Given the description of an element on the screen output the (x, y) to click on. 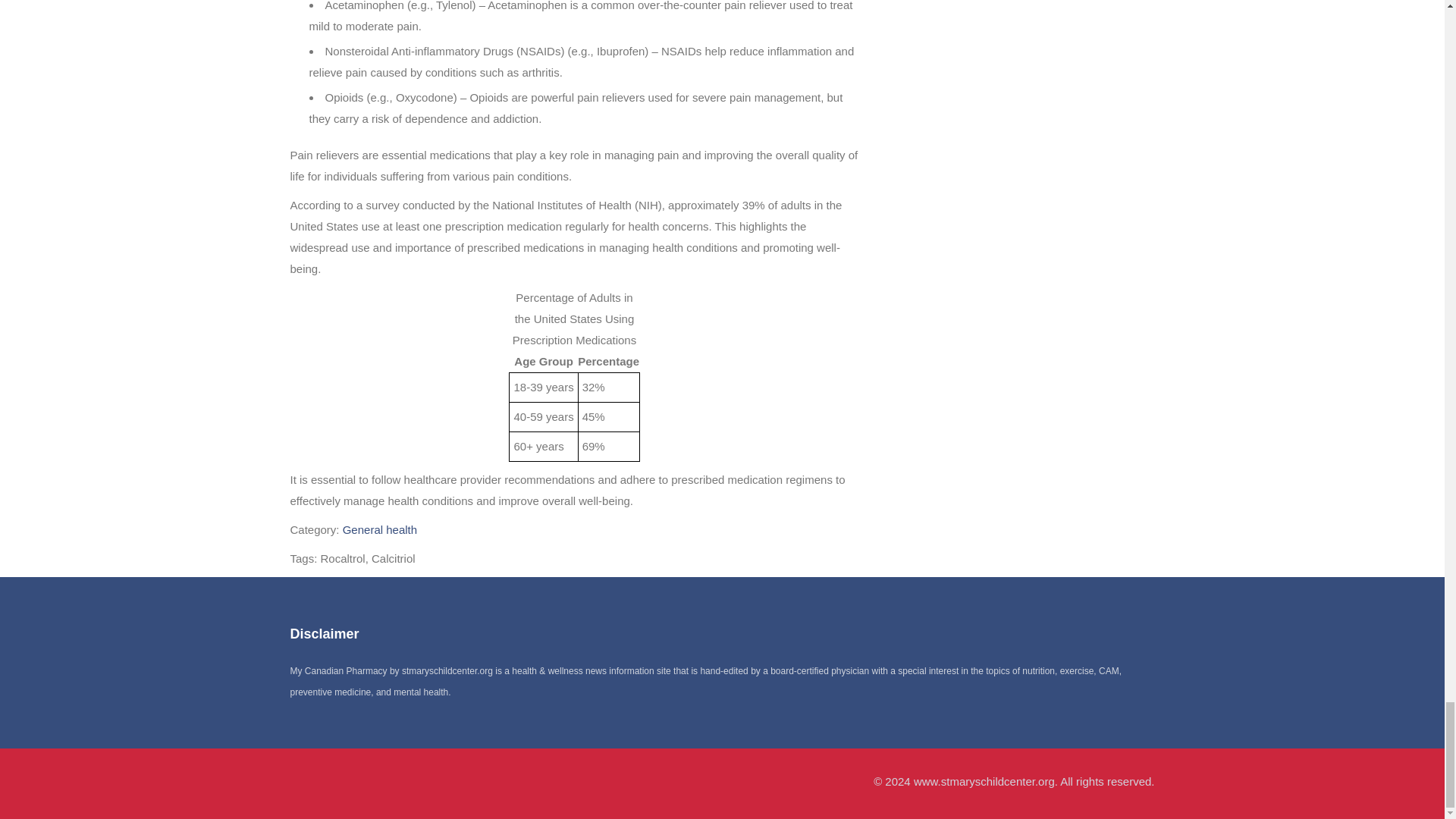
General health (379, 529)
